Given the description of an element on the screen output the (x, y) to click on. 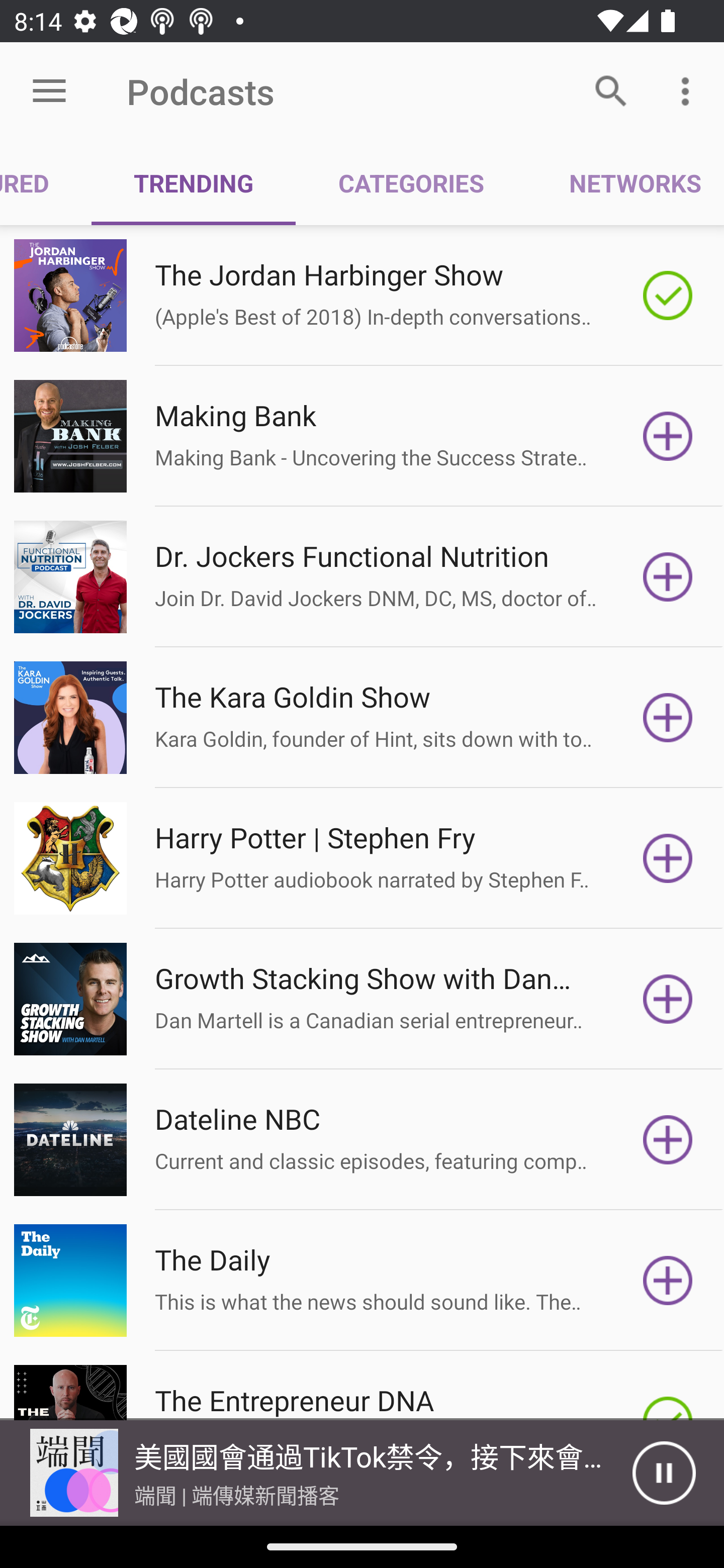
Open menu (49, 91)
Search (611, 90)
More options (688, 90)
TRENDING (193, 183)
CATEGORIES (410, 183)
NETWORKS (625, 183)
Subscribed (667, 295)
Subscribe (667, 435)
Subscribe (667, 576)
Subscribe (667, 717)
Subscribe (667, 858)
Subscribe (667, 998)
Subscribe (667, 1139)
Subscribe (667, 1280)
Picture 美國國會通過TikTok禁令，接下來會發生什麼？ 端聞 | 端傳媒新聞播客 (316, 1472)
Pause (663, 1472)
